Given the description of an element on the screen output the (x, y) to click on. 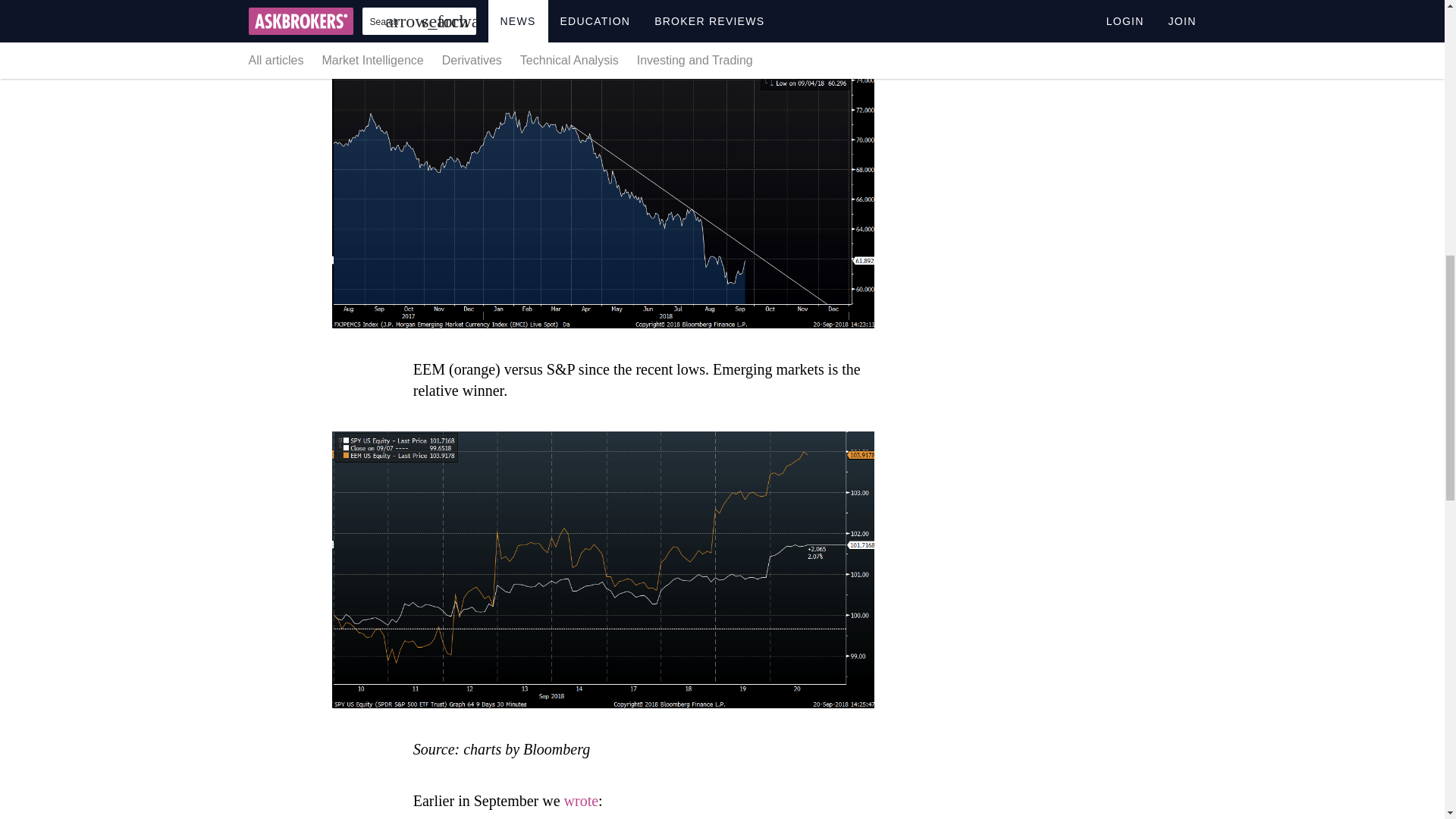
wrote (581, 800)
